Given the description of an element on the screen output the (x, y) to click on. 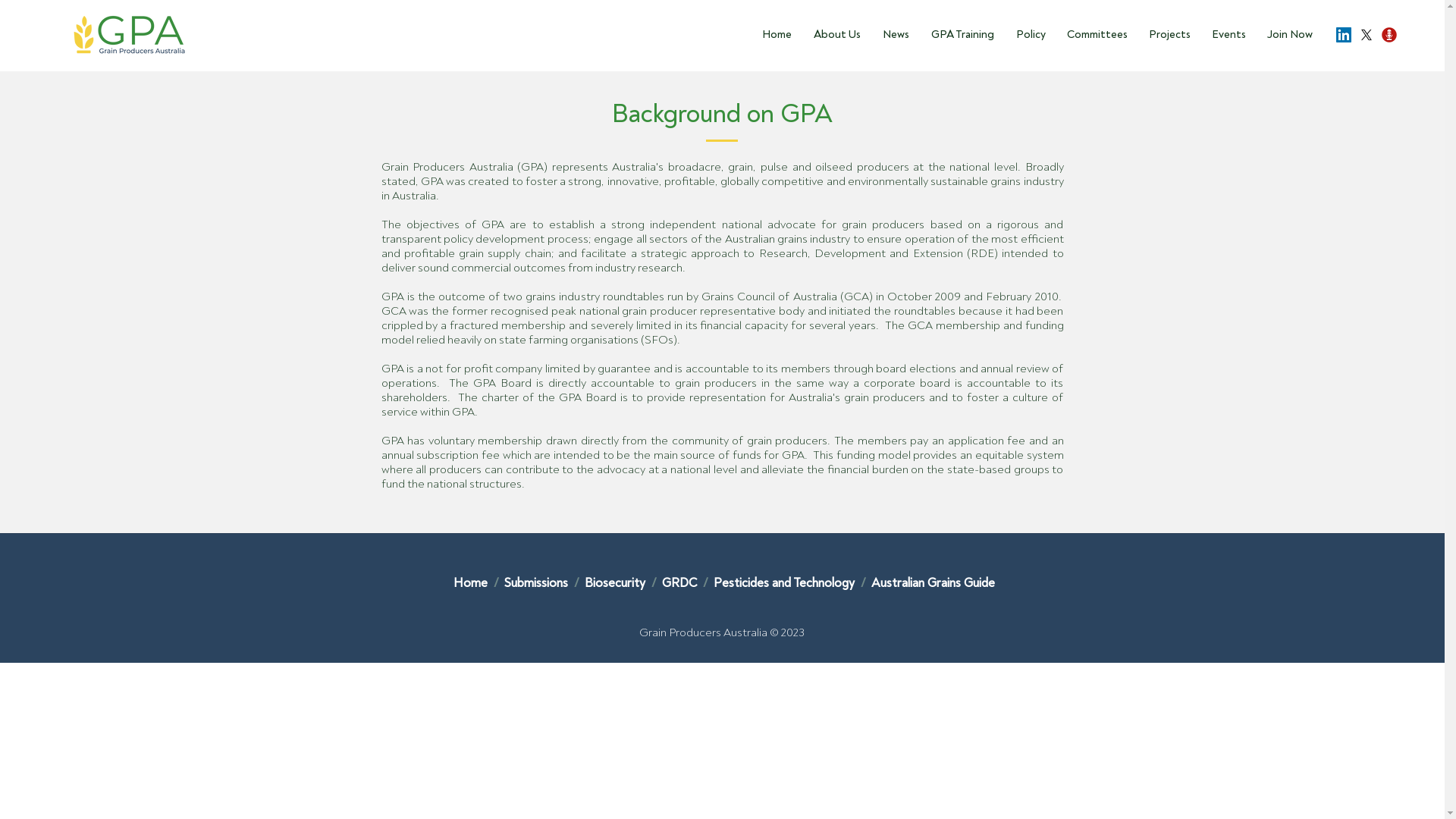
Committees Element type: text (1094, 34)
Home Element type: text (773, 34)
GRDC Element type: text (678, 582)
Pesticides and Technology Element type: text (782, 582)
Events Element type: text (1225, 34)
GPA Training Element type: text (958, 34)
Home Element type: text (470, 582)
Biosecurity  Element type: text (615, 582)
Policy Element type: text (1027, 34)
Australian Grains Guide Element type: text (932, 582)
  Element type: text (487, 582)
Submissions  Element type: text (536, 582)
Join Now Element type: text (1286, 34)
News Element type: text (892, 34)
  Element type: text (854, 582)
